Given the description of an element on the screen output the (x, y) to click on. 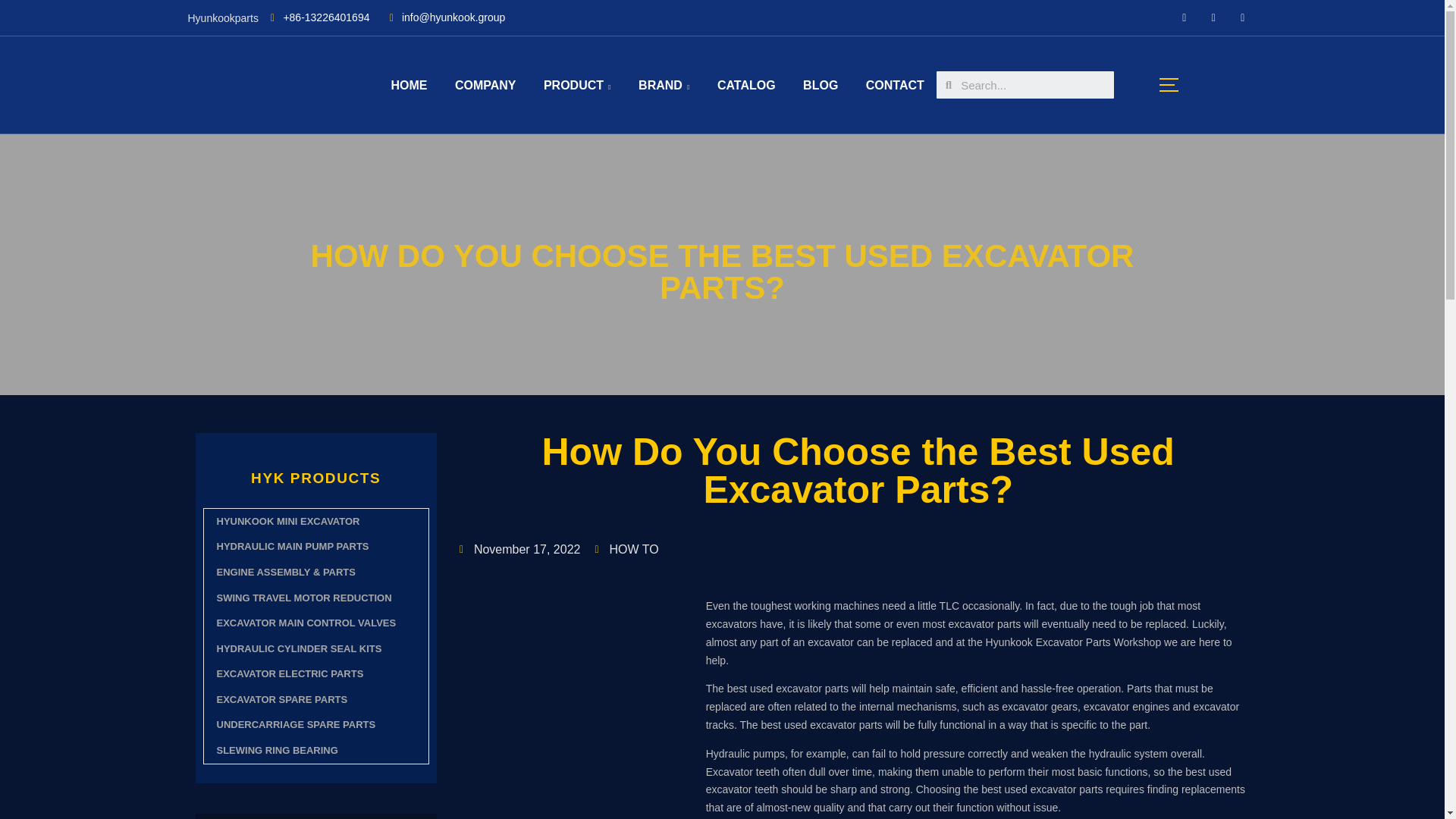
BLOG (820, 84)
BRAND (663, 84)
CONTACT (894, 84)
CATALOG (745, 84)
Search (1032, 84)
COMPANY (485, 84)
HOME (408, 84)
PRODUCT (577, 84)
